Given the description of an element on the screen output the (x, y) to click on. 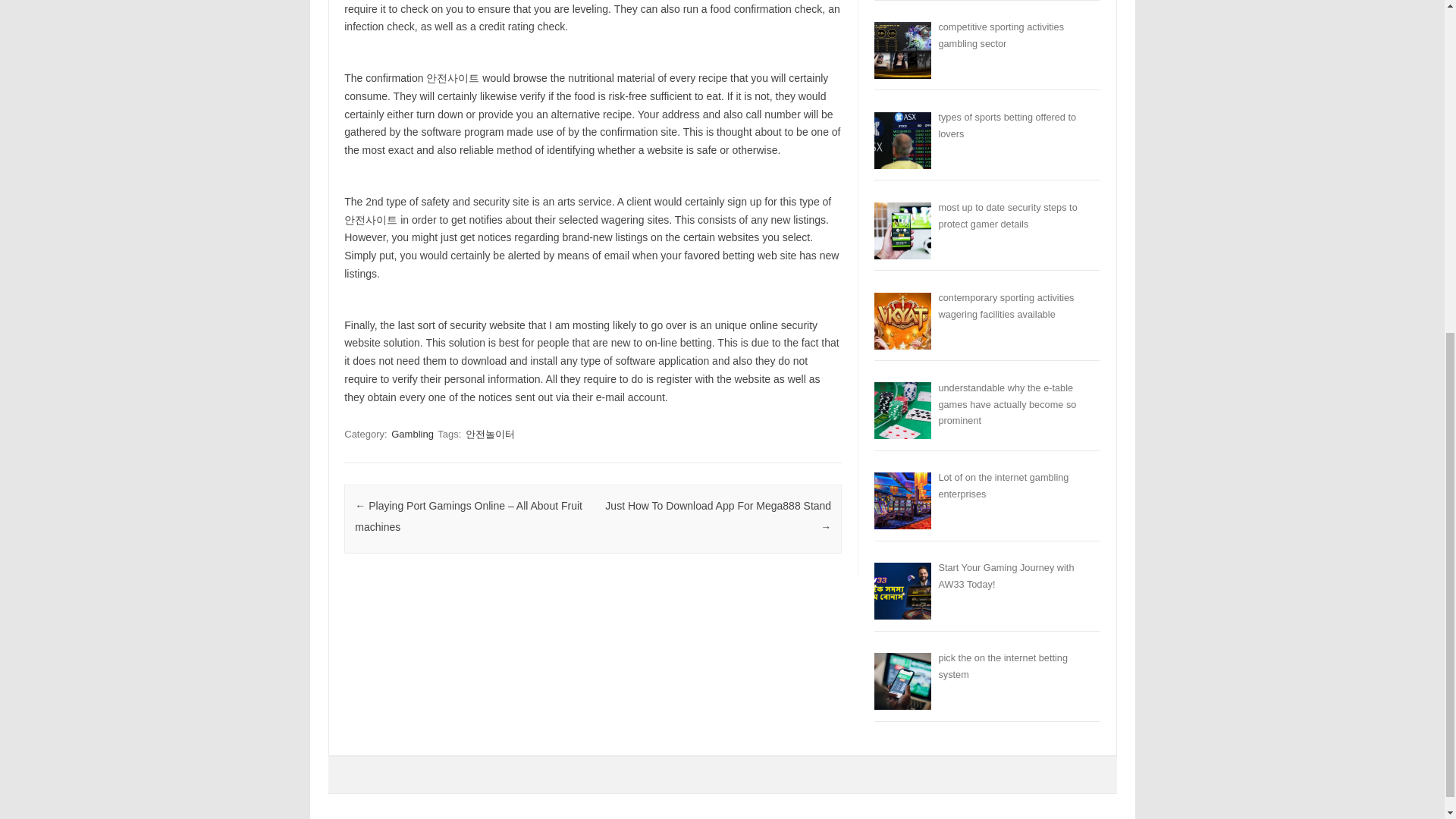
Lot of on the internet gambling enterprises (1002, 485)
pick the on the internet betting system (1002, 665)
types of sports betting offered to lovers (1006, 125)
Start Your Gaming Journey with AW33 Today! (1005, 575)
Gambling (412, 433)
most up to date security steps to protect gamer details (1007, 215)
competitive sporting activities gambling sector (1000, 35)
